Given the description of an element on the screen output the (x, y) to click on. 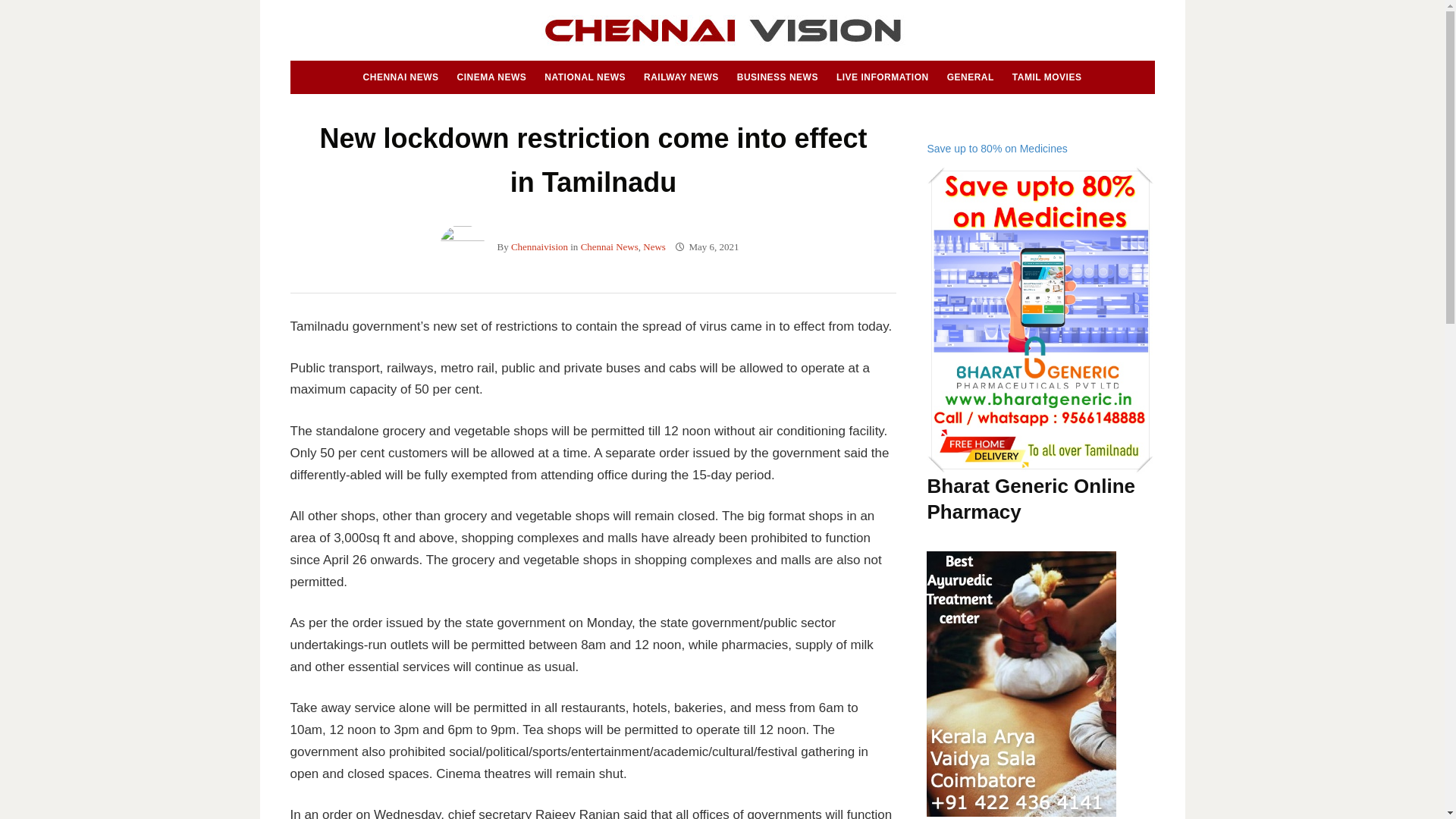
LIVE INFORMATION (882, 77)
GENERAL (969, 77)
NATIONAL NEWS (585, 77)
RAILWAY NEWS (681, 77)
CHENNAI NEWS (401, 77)
BUSINESS NEWS (777, 77)
CINEMA NEWS (491, 77)
Posts by Chennaivision (539, 246)
